Given the description of an element on the screen output the (x, y) to click on. 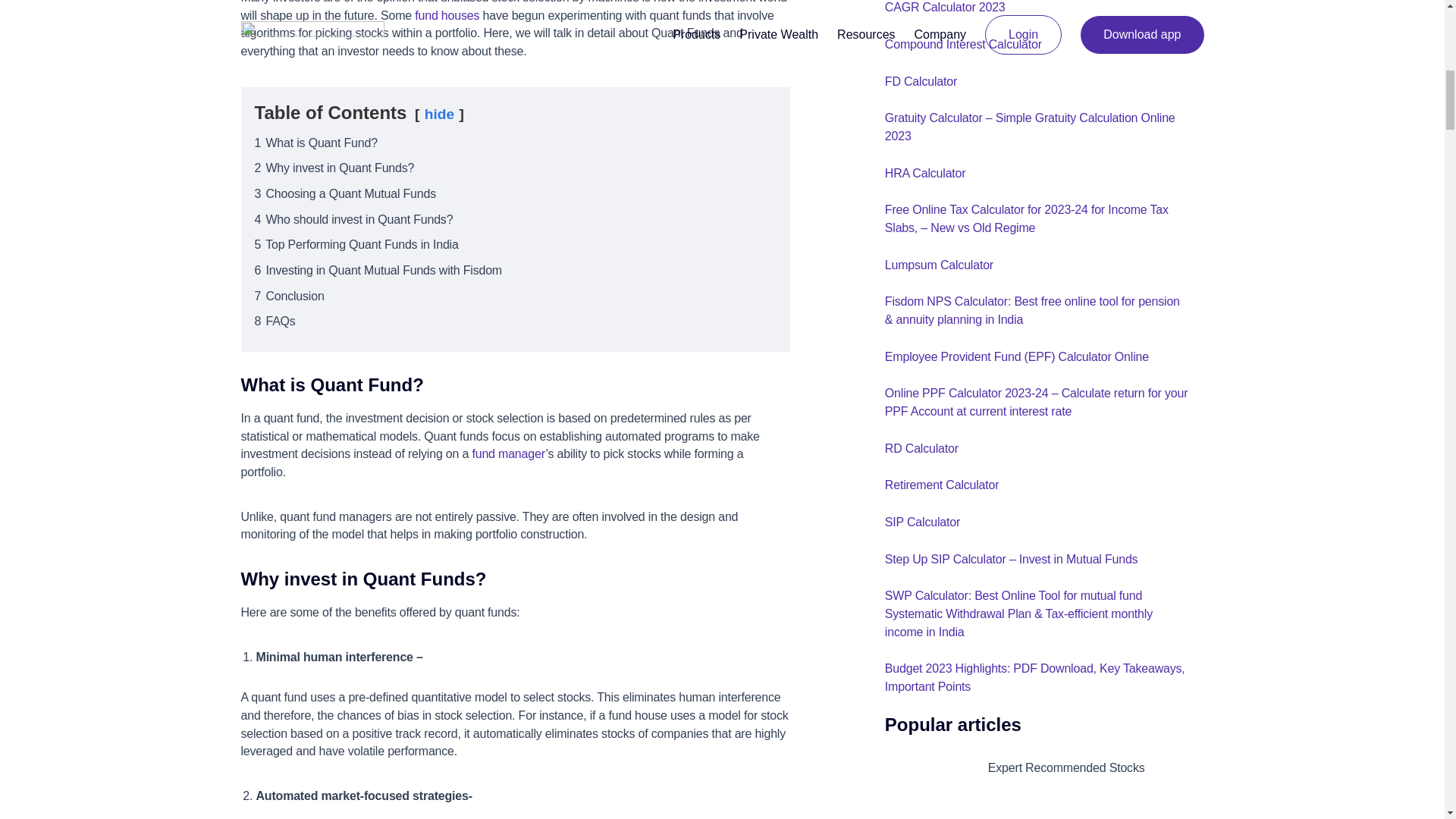
2 Why invest in Quant Funds? (334, 167)
fund houses (446, 15)
3 Choosing a Quant Mutual Funds (345, 193)
1 What is Quant Fund? (315, 142)
4 Who should invest in Quant Funds? (353, 219)
hide (439, 114)
